Given the description of an element on the screen output the (x, y) to click on. 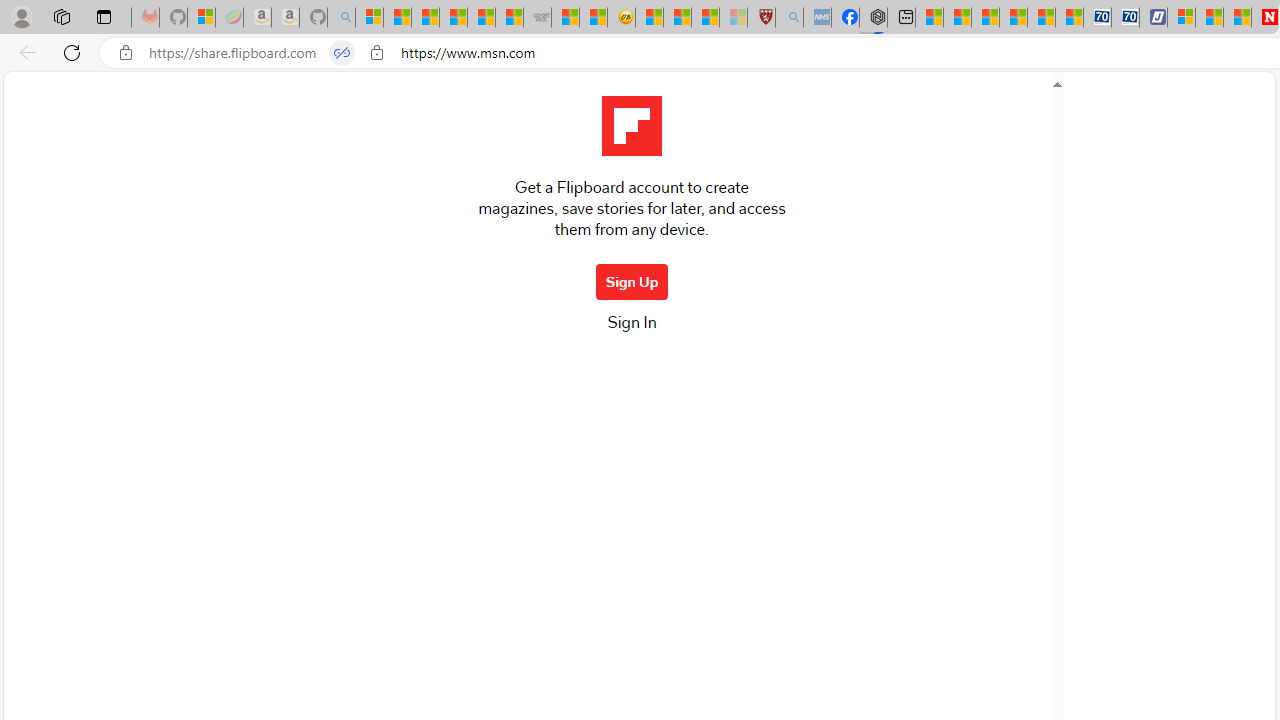
Sign In (631, 327)
New Report Confirms 2023 Was Record Hot | Watch (481, 17)
